Given the description of an element on the screen output the (x, y) to click on. 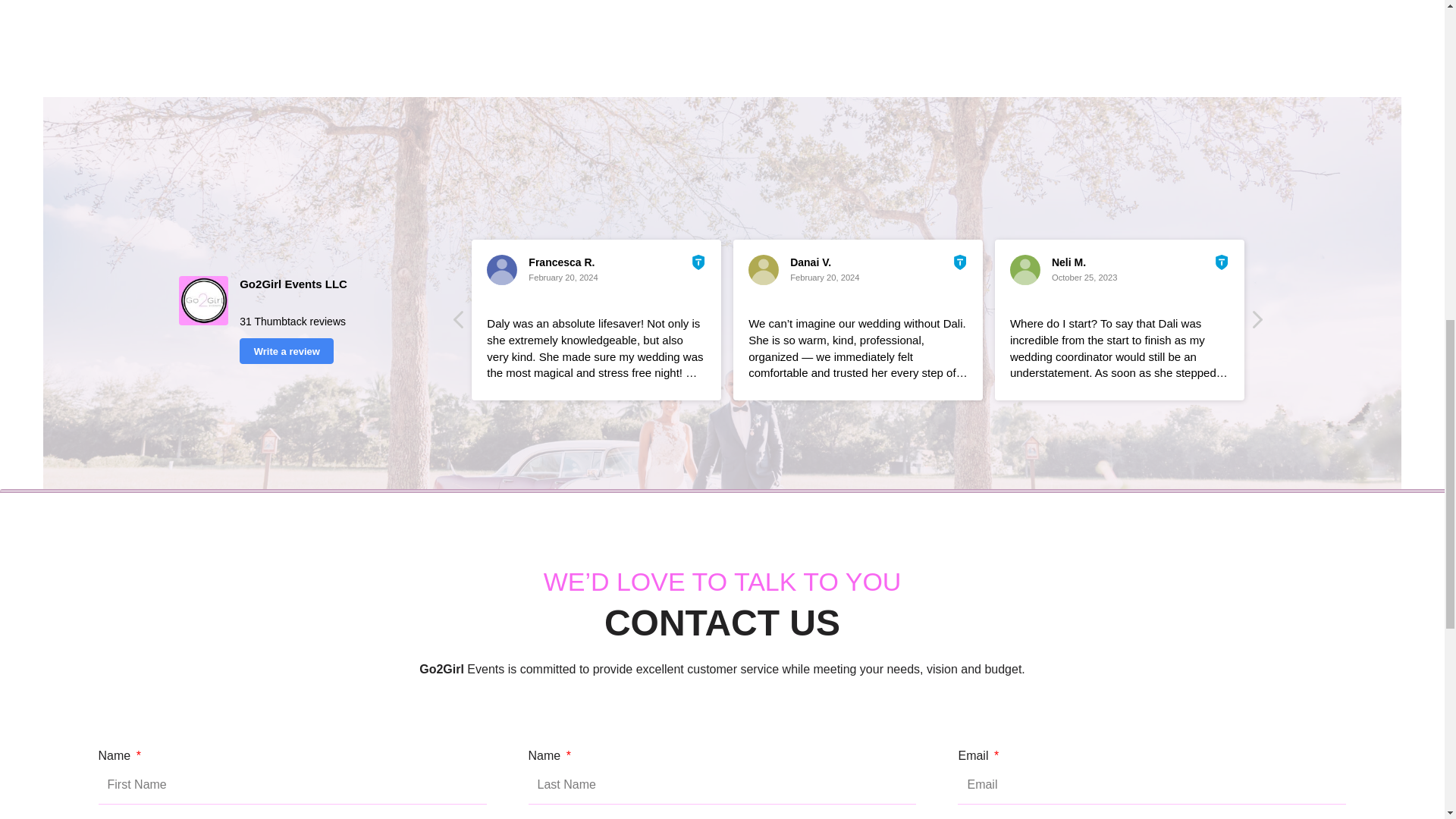
Write a review (286, 350)
